Given the description of an element on the screen output the (x, y) to click on. 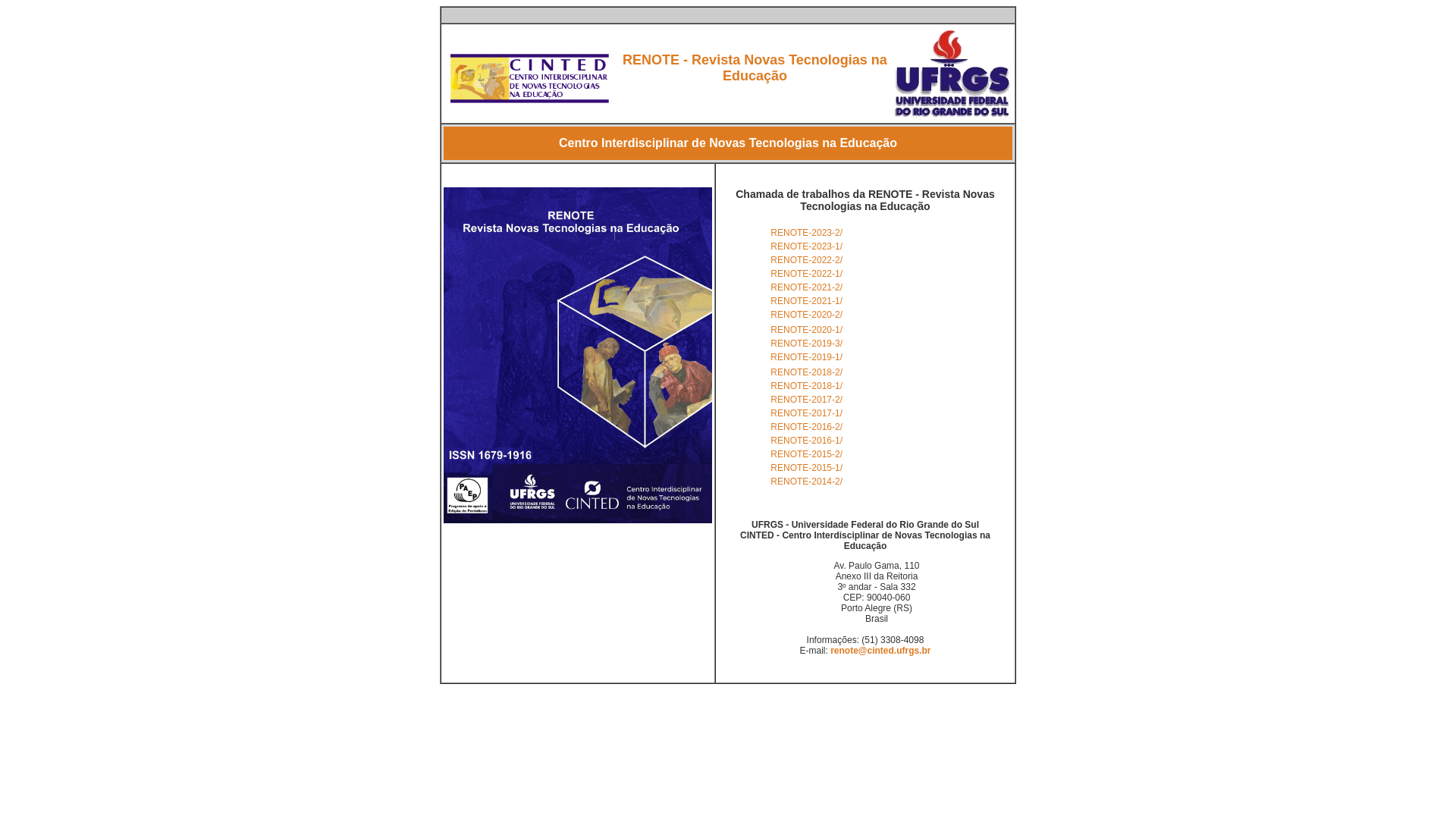
RENOTE-2016-1/ Element type: text (806, 440)
RENOTE-2015-2/ Element type: text (806, 453)
RENOTE-2021-1/ Element type: text (806, 300)
RENOTE-2017-2/ Element type: text (806, 399)
RENOTE-2014-2/ Element type: text (806, 481)
RENOTE-2020-2/ Element type: text (806, 314)
RENOTE-2023-1/ Element type: text (806, 246)
RENOTE-2020-1/ Element type: text (806, 329)
RENOTE-2018-2/ Element type: text (806, 372)
RENOTE-2018-1/ Element type: text (806, 385)
RENOTE-2021-2/ Element type: text (806, 287)
RENOTE-2023-2/ Element type: text (806, 232)
RENOTE-2022-2/ Element type: text (806, 259)
RENOTE-2019-1/ Element type: text (806, 356)
RENOTE-2022-1/ Element type: text (806, 273)
RENOTE-2017-1/ Element type: text (806, 412)
RENOTE-2016-2/ Element type: text (806, 426)
RENOTE-2019-3/ Element type: text (806, 343)
RENOTE-2015-1/ Element type: text (806, 467)
renote@cinted.ufrgs.br Element type: text (880, 650)
